Given the description of an element on the screen output the (x, y) to click on. 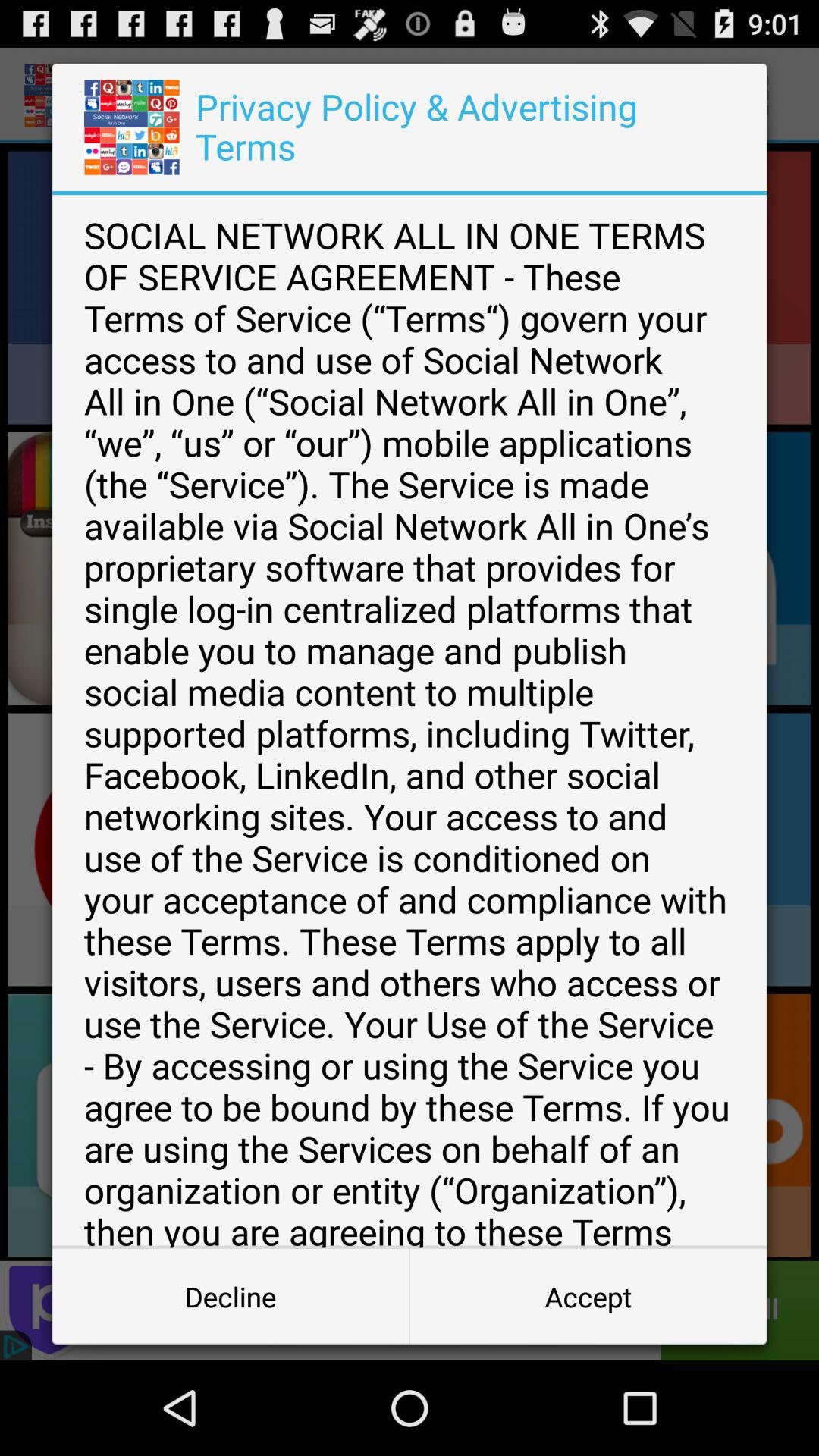
scroll to decline item (230, 1296)
